Given the description of an element on the screen output the (x, y) to click on. 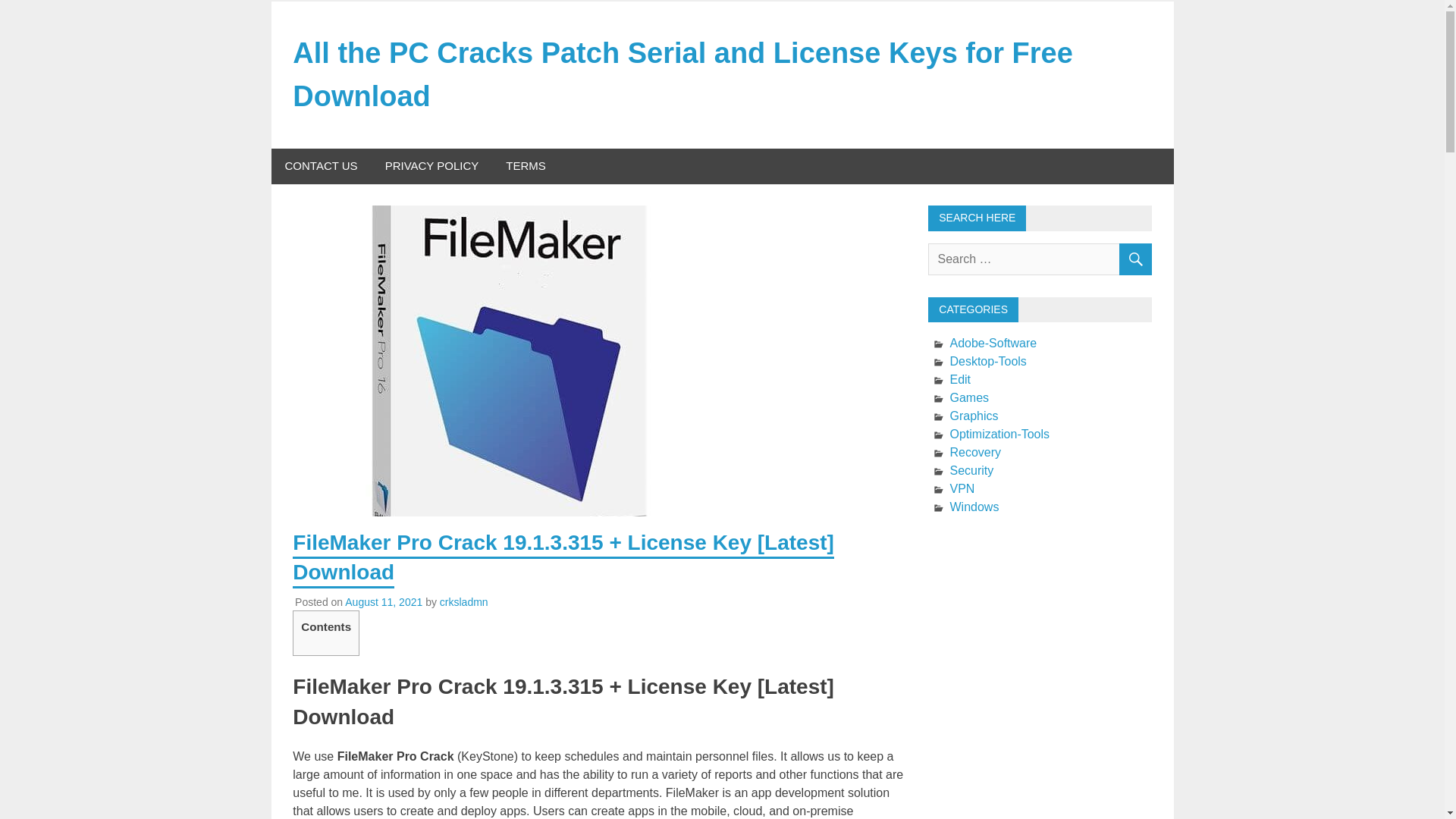
crksladmn (463, 602)
CONTACT US (320, 166)
VPN (961, 488)
August 11, 2021 (383, 602)
7:30 pm (383, 602)
TERMS (525, 166)
PRIVACY POLICY (432, 166)
Windows (973, 506)
Security (970, 470)
View all posts by crksladmn (463, 602)
Graphics (973, 415)
Recovery (975, 451)
Optimization-Tools (999, 433)
Adobe-Software (992, 342)
